Given the description of an element on the screen output the (x, y) to click on. 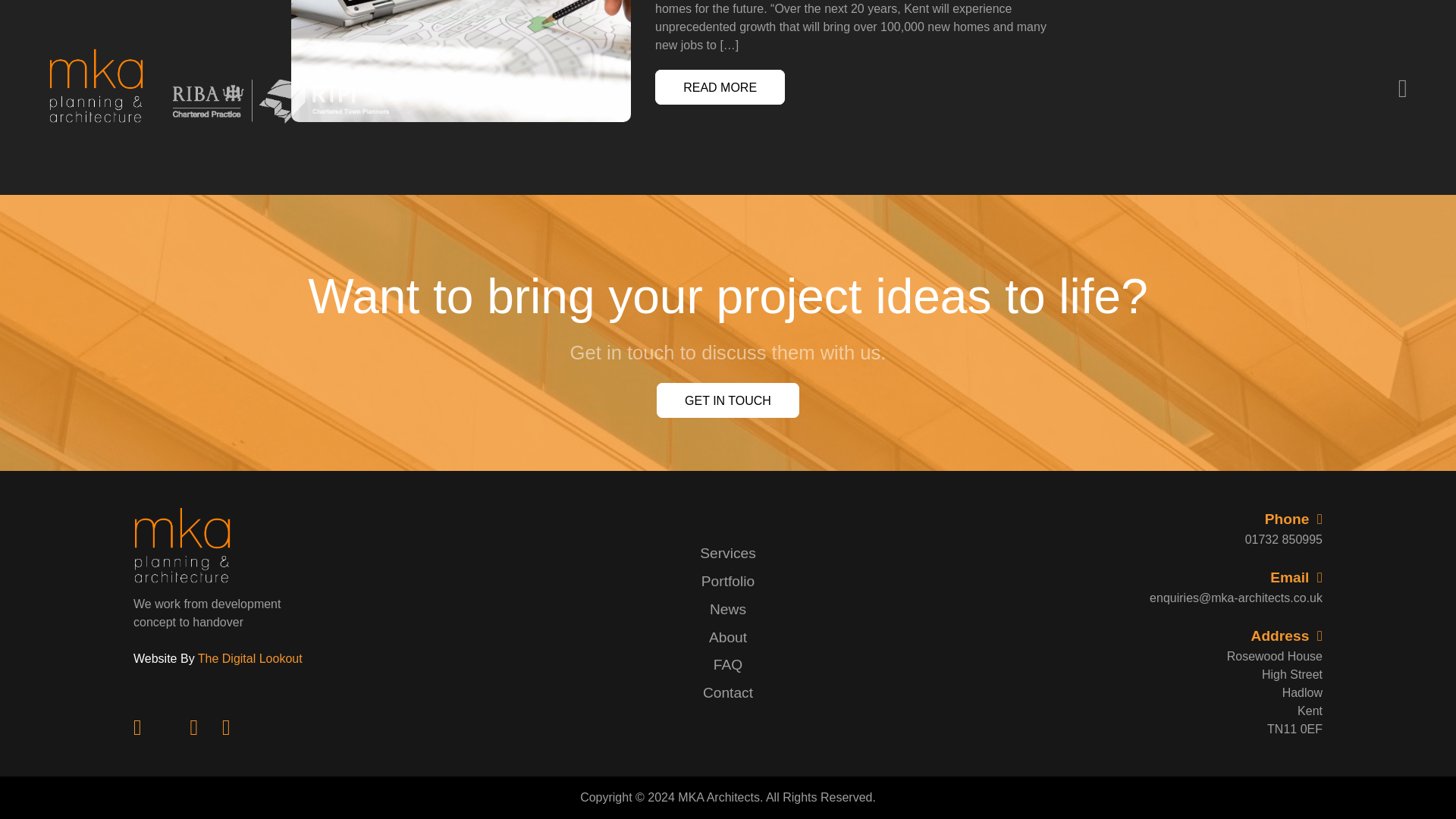
Contact (727, 692)
Services (727, 553)
GET IN TOUCH (727, 400)
News (727, 609)
FAQ (727, 664)
READ MORE (719, 87)
01732 850995 (1212, 539)
The Digital Lookout (250, 658)
Portfolio (727, 580)
About (727, 637)
